Given the description of an element on the screen output the (x, y) to click on. 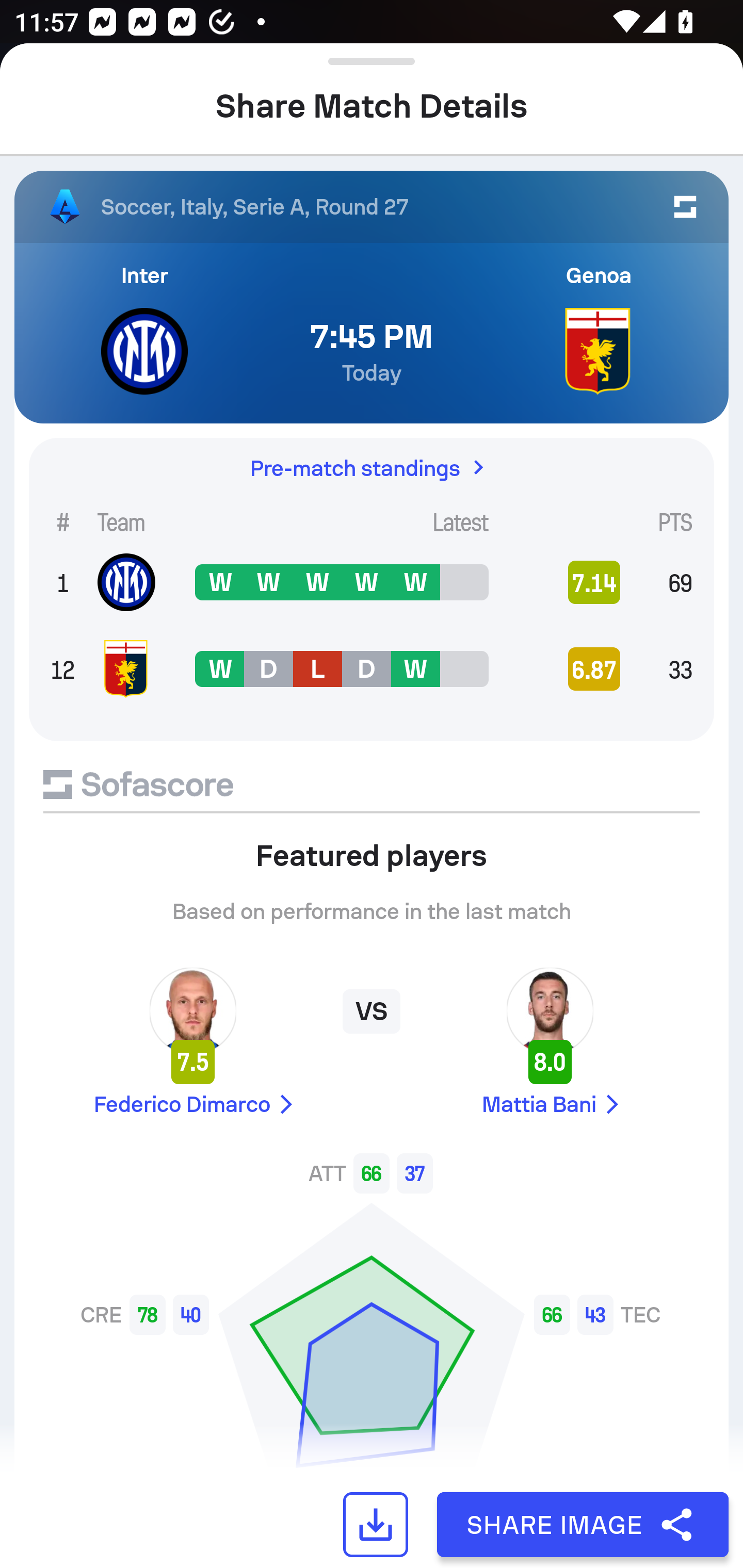
SHARE IMAGE (582, 1524)
